Given the description of an element on the screen output the (x, y) to click on. 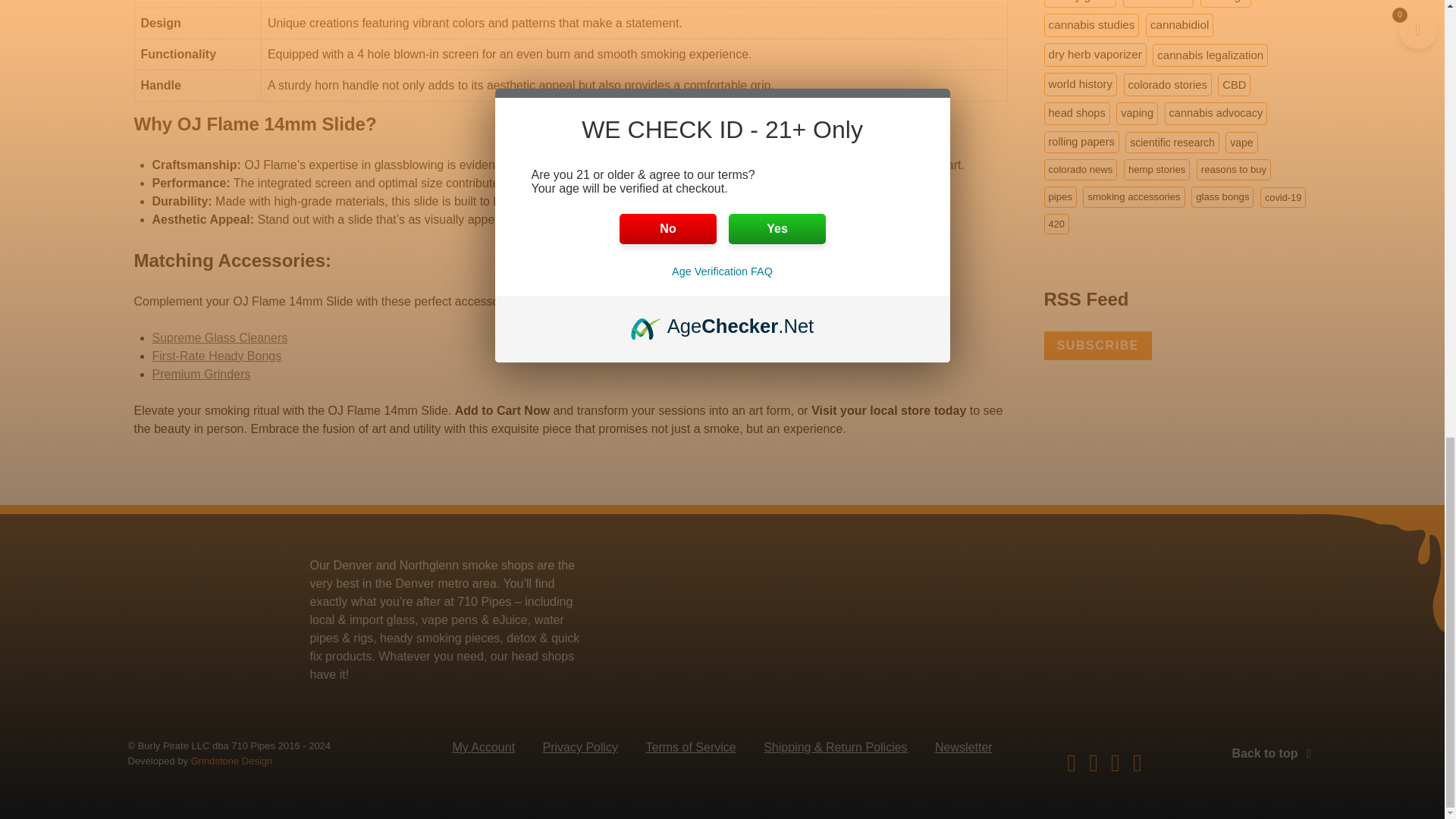
My Account (483, 750)
Terms of Service (691, 750)
Privacy Policy (580, 750)
